Given the description of an element on the screen output the (x, y) to click on. 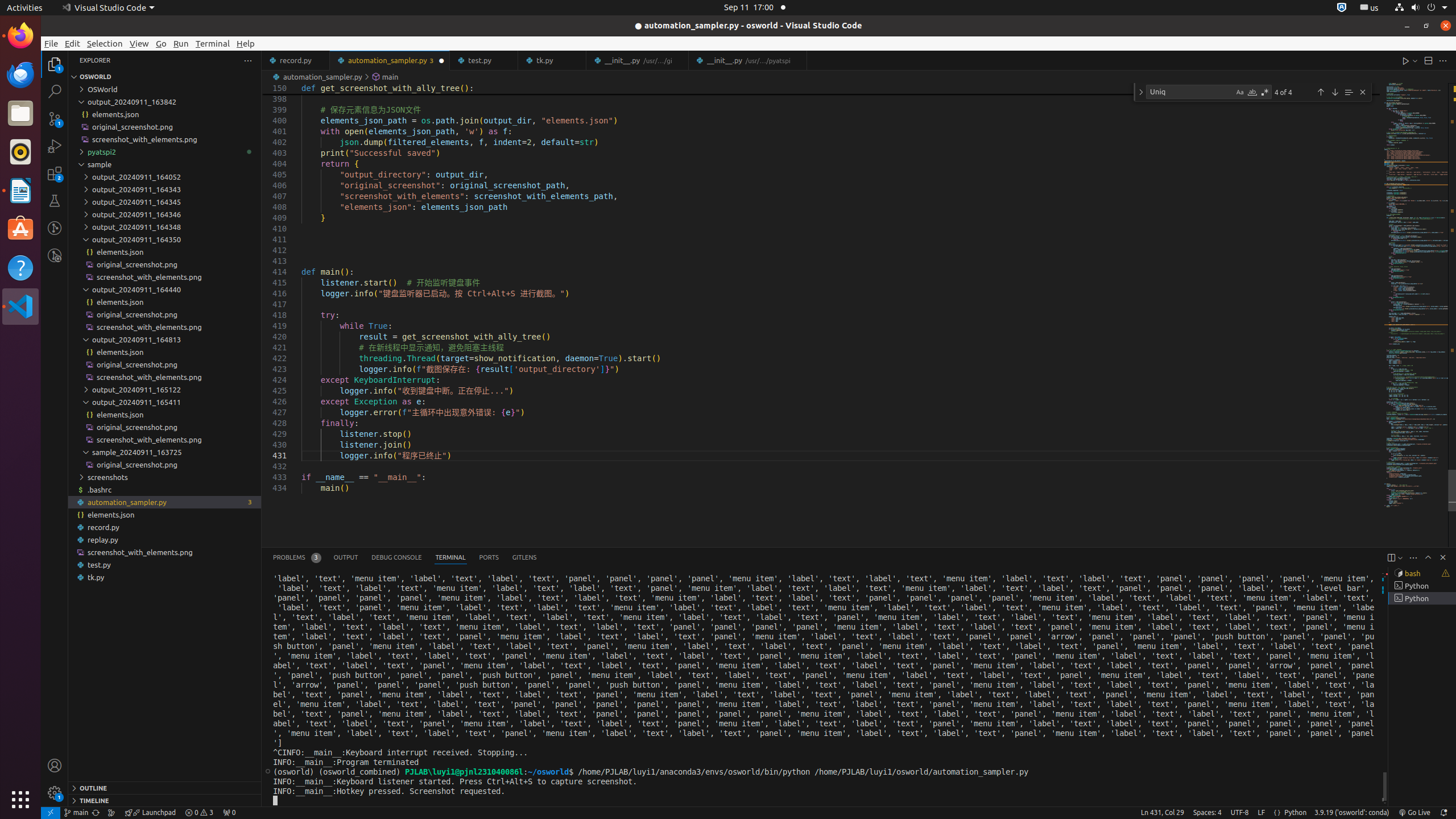
Source Control (Ctrl+Shift+G G) - 1 pending changes Element type: page-tab (54, 118)
Views and More Actions... Element type: push-button (1413, 557)
Explorer Section: osworld Element type: push-button (164, 76)
Ln 431, Col 29 Element type: push-button (1162, 812)
test.py Element type: page-tab (483, 60)
